Given the description of an element on the screen output the (x, y) to click on. 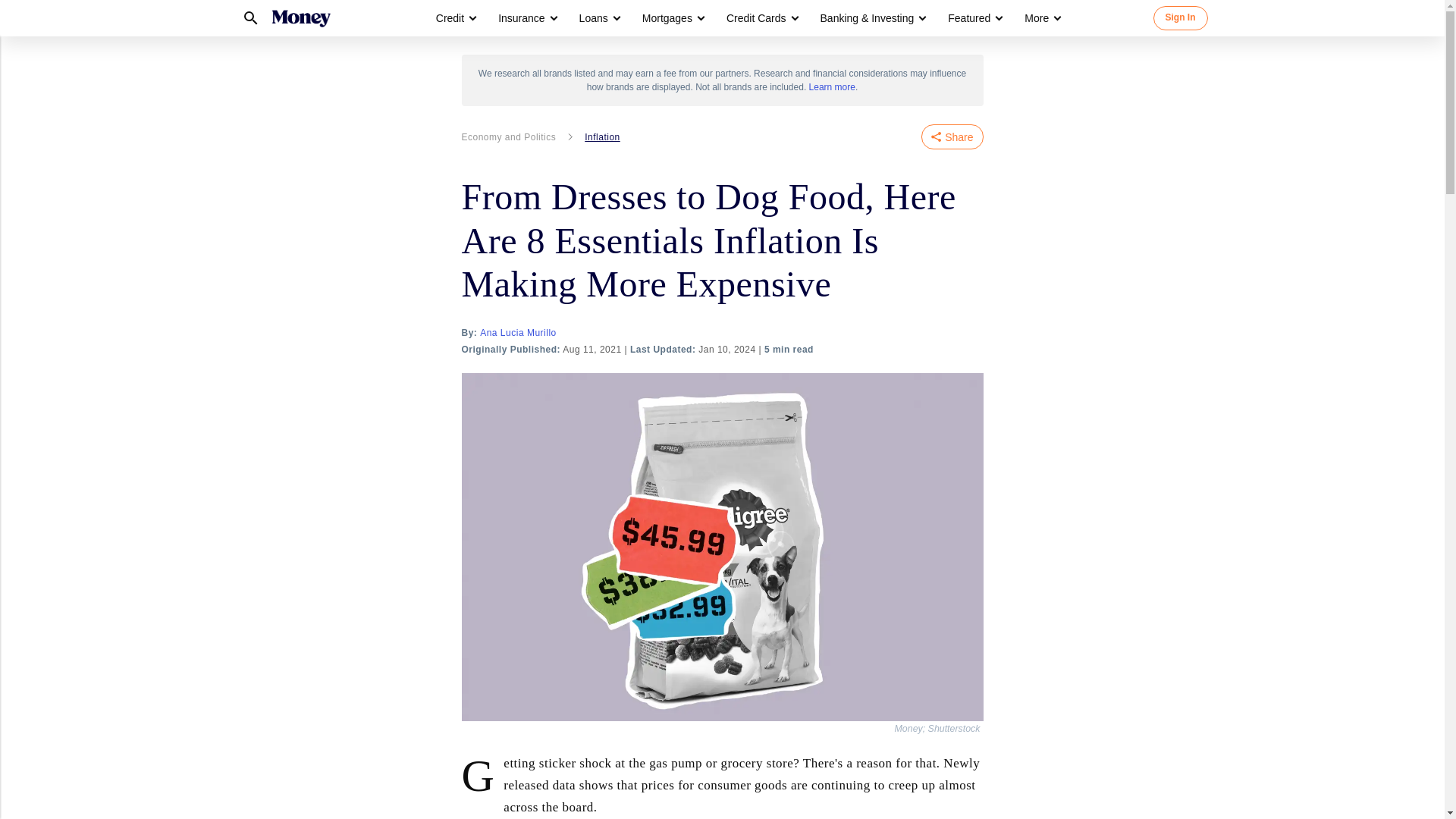
Mortgages (667, 18)
Credit Cards (761, 18)
Credit (455, 18)
Loans (598, 18)
Loans (593, 18)
Insurance (526, 18)
Mortgages (672, 18)
Credit (449, 18)
Insurance (520, 18)
Credit Cards (756, 18)
